Given the description of an element on the screen output the (x, y) to click on. 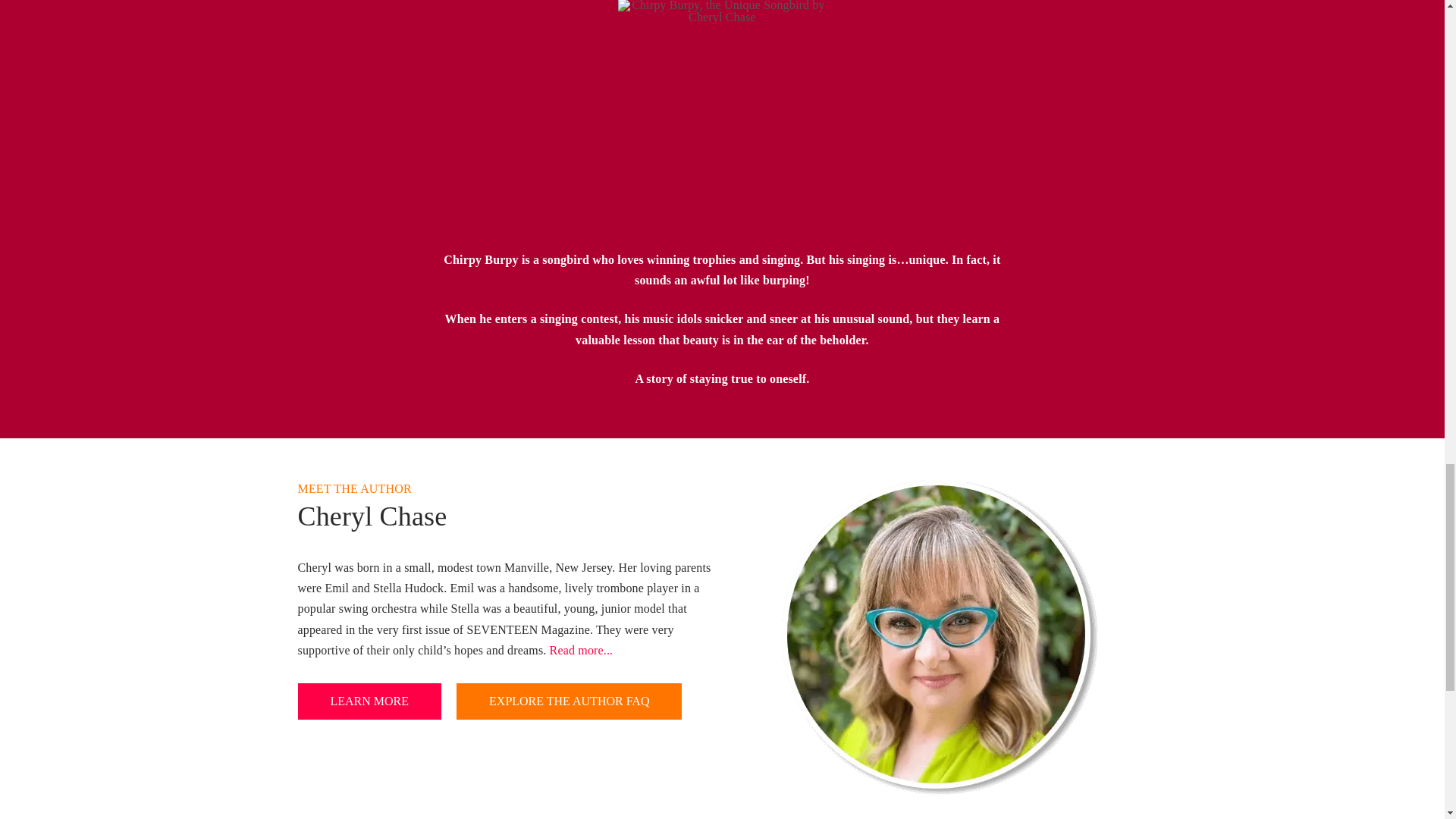
Read more... (581, 649)
EXPLORE THE AUTHOR FAQ (569, 701)
LEARN MORE (369, 701)
Chirpy Burpy, the Unique Songbird by Cheryl Chase (721, 113)
